Given the description of an element on the screen output the (x, y) to click on. 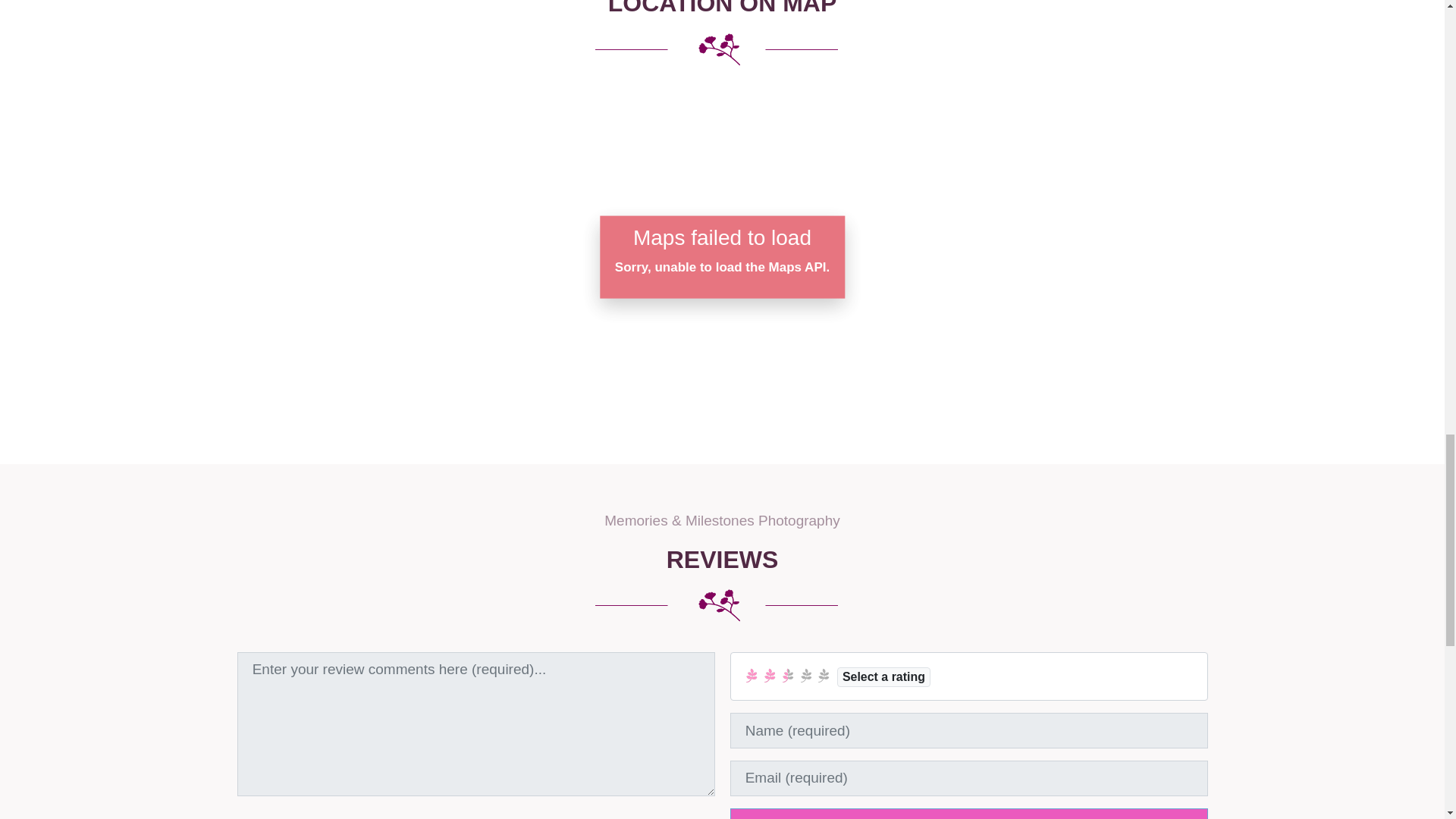
Terrible (751, 675)
Post Review (968, 813)
Poor (769, 675)
Very Good (805, 675)
Average (787, 675)
Excellent (822, 675)
